Given the description of an element on the screen output the (x, y) to click on. 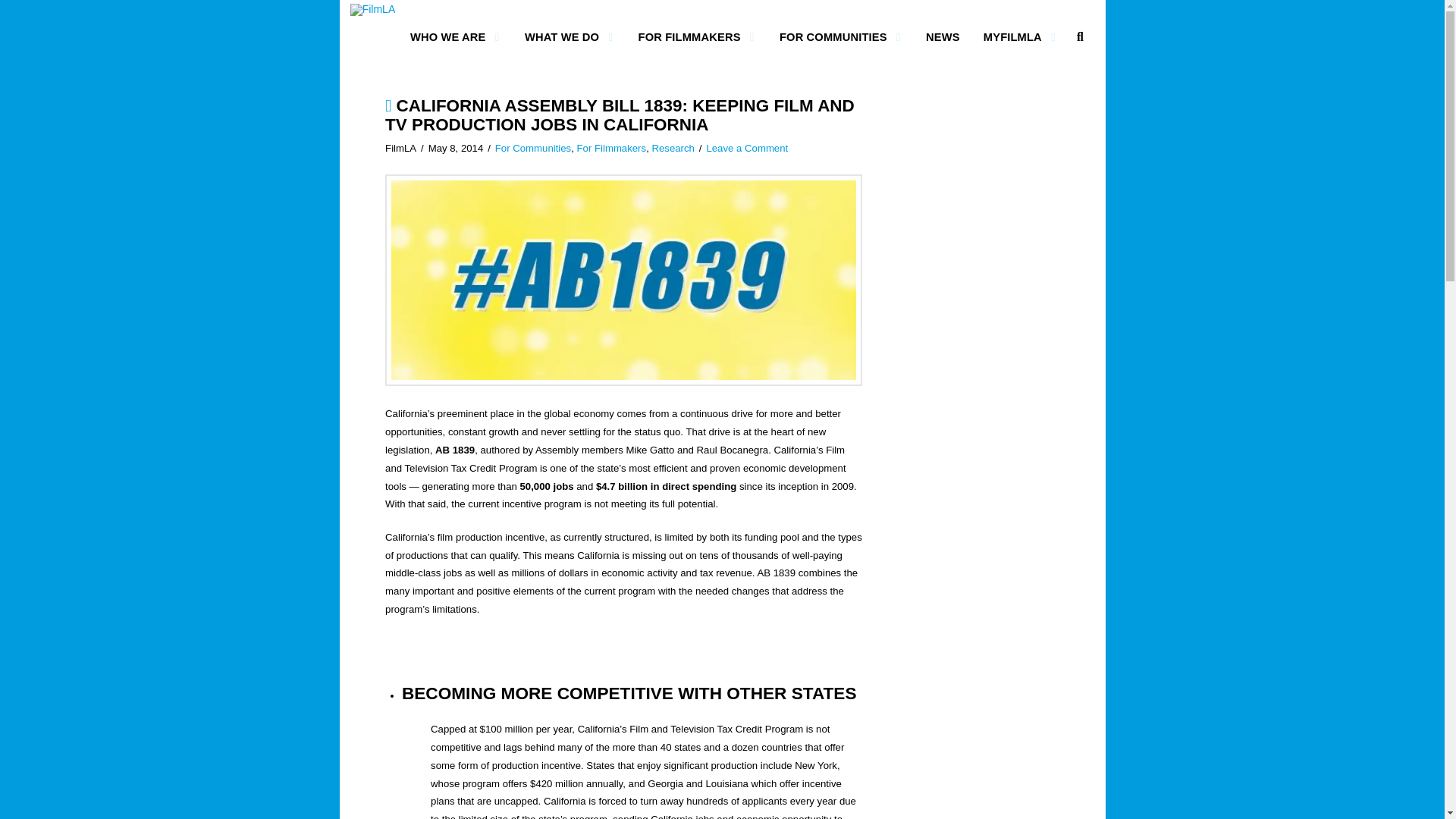
FOR FILMMAKERS (693, 37)
WHAT WE DO (566, 37)
For Filmmakers (611, 147)
WHO WE ARE (451, 37)
For Communities (532, 147)
Leave a Comment (746, 147)
Research (672, 147)
FOR COMMUNITIES (837, 37)
MYFILMLA (1016, 37)
